Given the description of an element on the screen output the (x, y) to click on. 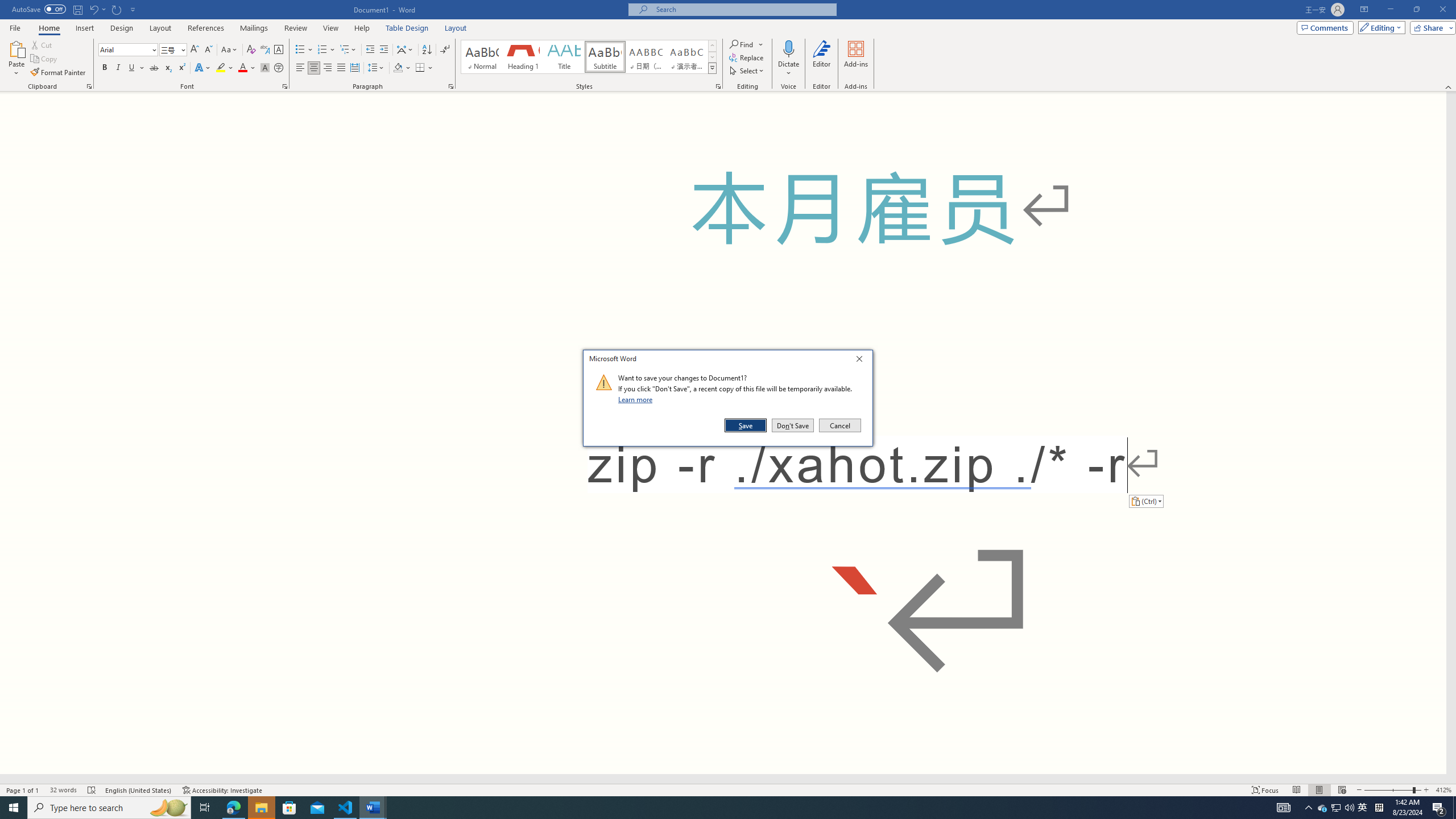
Dictate (788, 58)
Action: Paste alternatives (1145, 500)
Table Design (407, 28)
Notification Chevron (1308, 807)
Find (742, 44)
Editor (821, 58)
Visual Studio Code - 1 running window (345, 807)
Styles (711, 67)
Font Color (246, 67)
Italic (118, 67)
Learn more (636, 399)
Zoom 412% (1443, 790)
Microsoft Edge - 1 running window (233, 807)
